Given the description of an element on the screen output the (x, y) to click on. 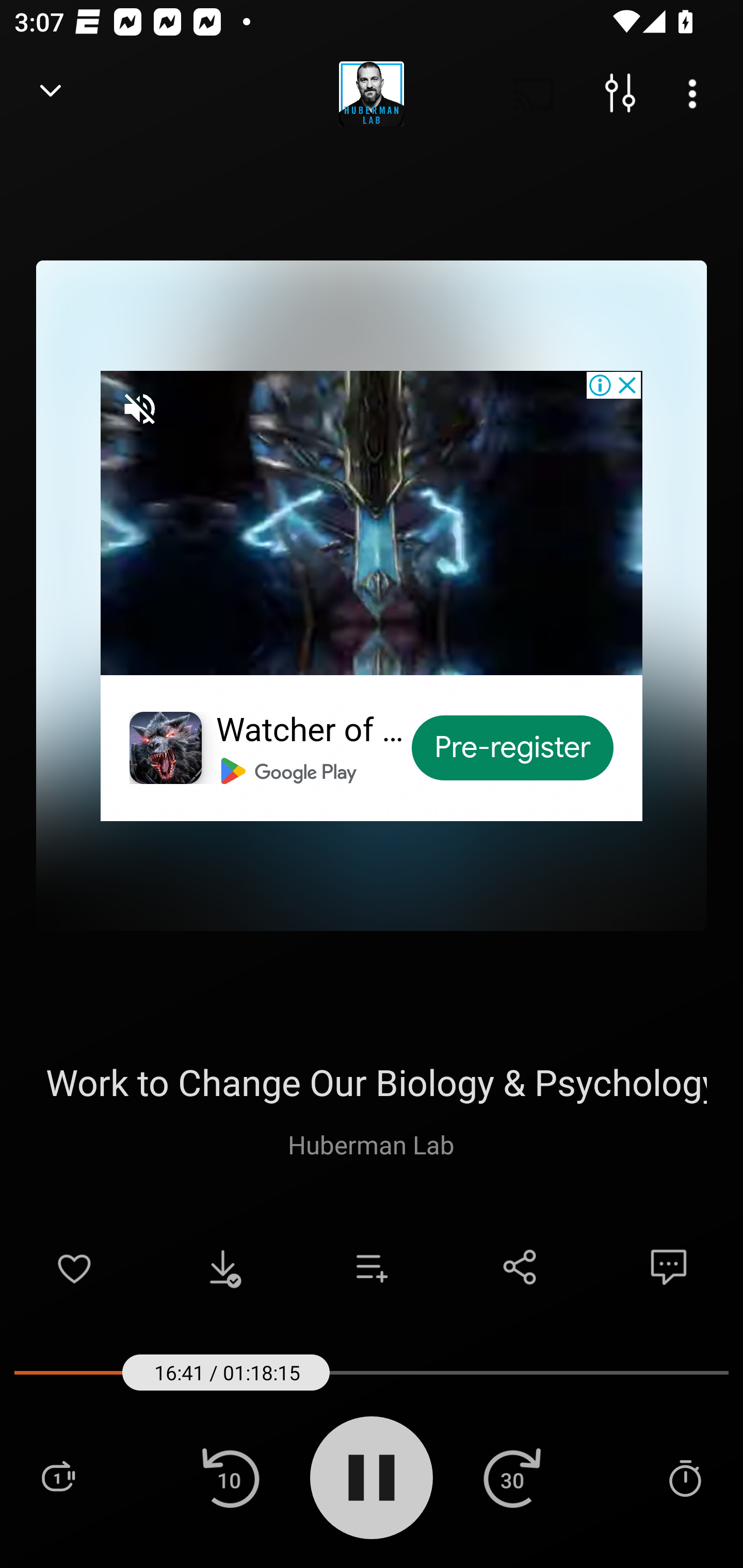
Cast. Disconnected (533, 93)
 Back (50, 94)
Watcher of … Pre-register Pre-register (371, 595)
Pre-register (512, 747)
Huberman Lab (370, 1144)
Comments (668, 1266)
Add to Favorites (73, 1266)
Add to playlist (371, 1266)
Share (519, 1266)
 Playlist (57, 1477)
Sleep Timer  (684, 1477)
